Given the description of an element on the screen output the (x, y) to click on. 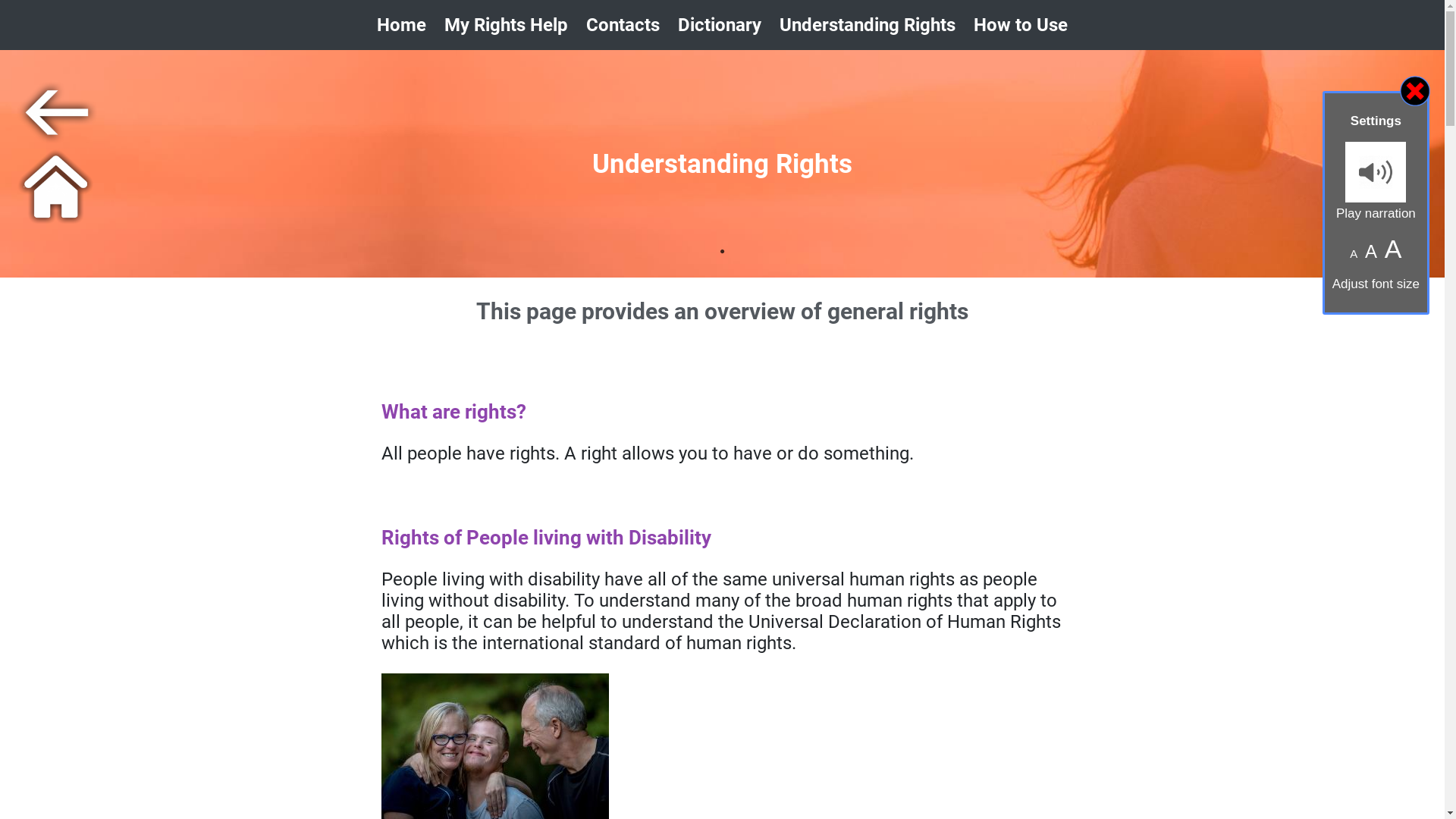
Understanding Rights Element type: text (867, 24)
My Rights Help Element type: text (506, 24)
Dictionary Element type: text (719, 24)
How to Use Element type: text (1020, 24)
Home Element type: text (401, 24)
1 Element type: text (752, 270)
Contacts Element type: text (622, 24)
